Given the description of an element on the screen output the (x, y) to click on. 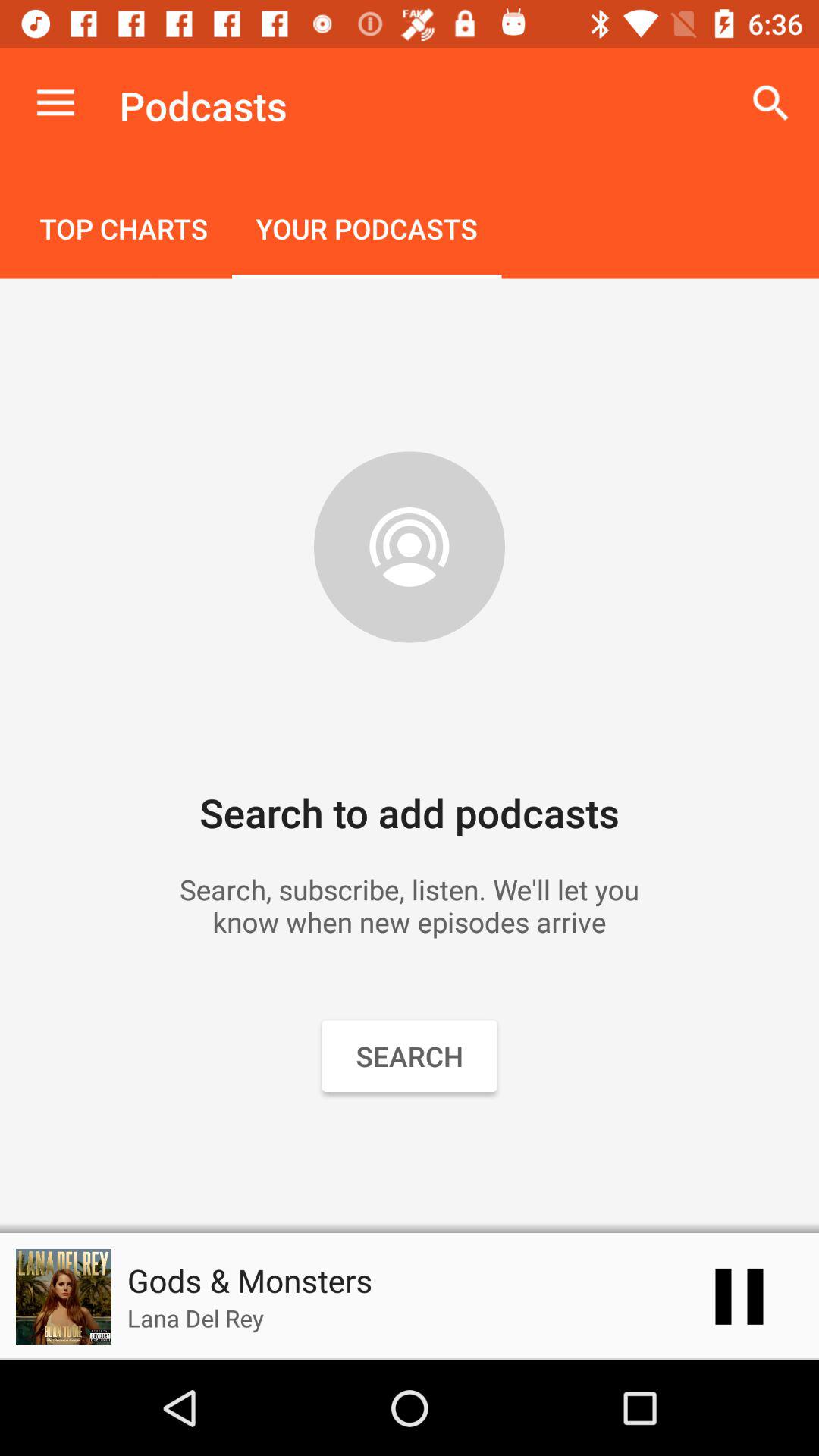
tap top charts icon (123, 230)
